Given the description of an element on the screen output the (x, y) to click on. 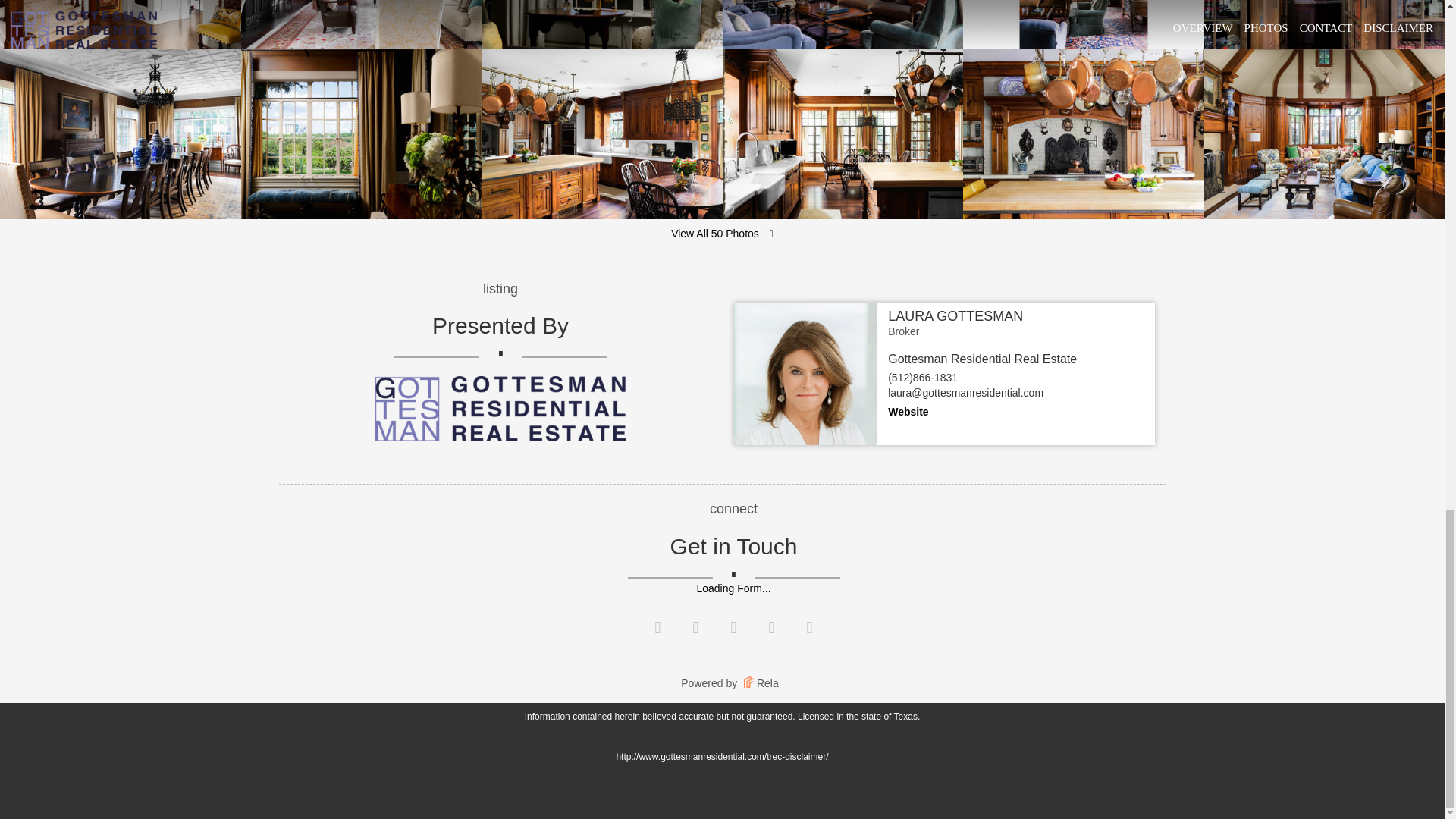
Loading Form... (732, 588)
Website (908, 411)
View All 50 Photos (721, 234)
